Given the description of an element on the screen output the (x, y) to click on. 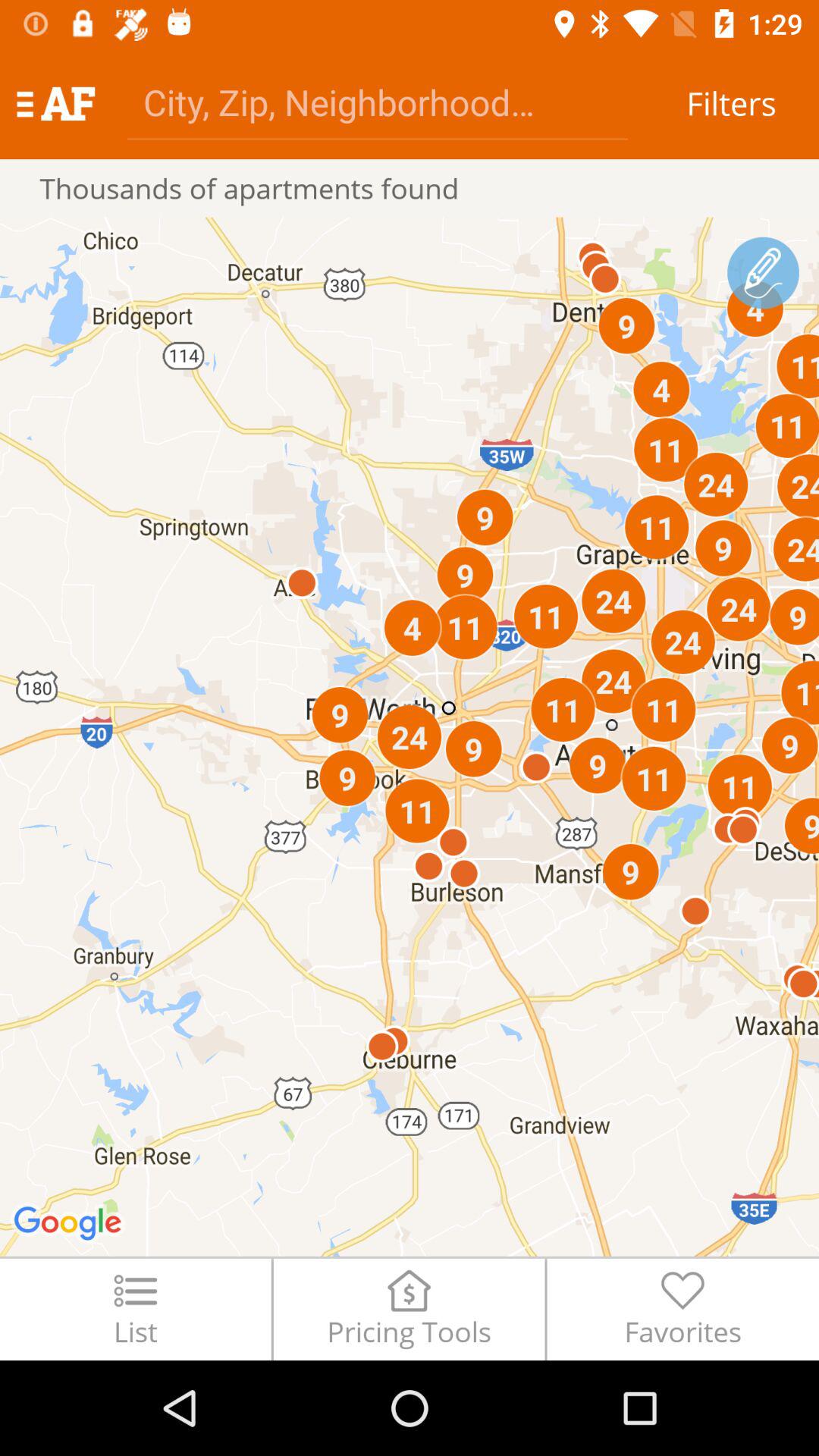
choose pricing tools (408, 1309)
